Given the description of an element on the screen output the (x, y) to click on. 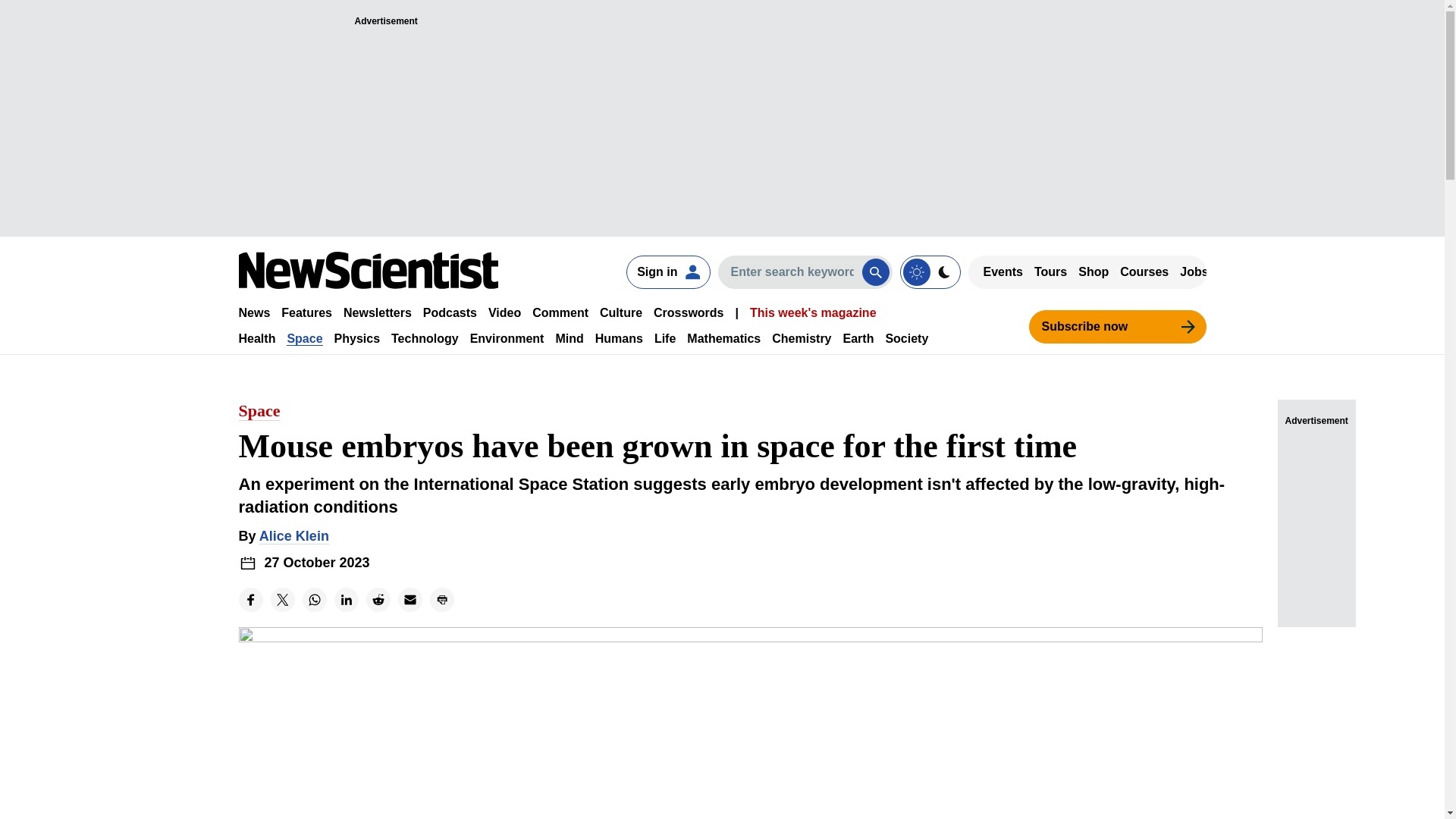
Mind (568, 338)
Space (303, 338)
Humans (619, 338)
Health (256, 338)
Physics (357, 338)
Crosswords (688, 313)
Podcasts (450, 313)
Earth (859, 338)
Courses (1144, 272)
Newsletters (377, 313)
